Given the description of an element on the screen output the (x, y) to click on. 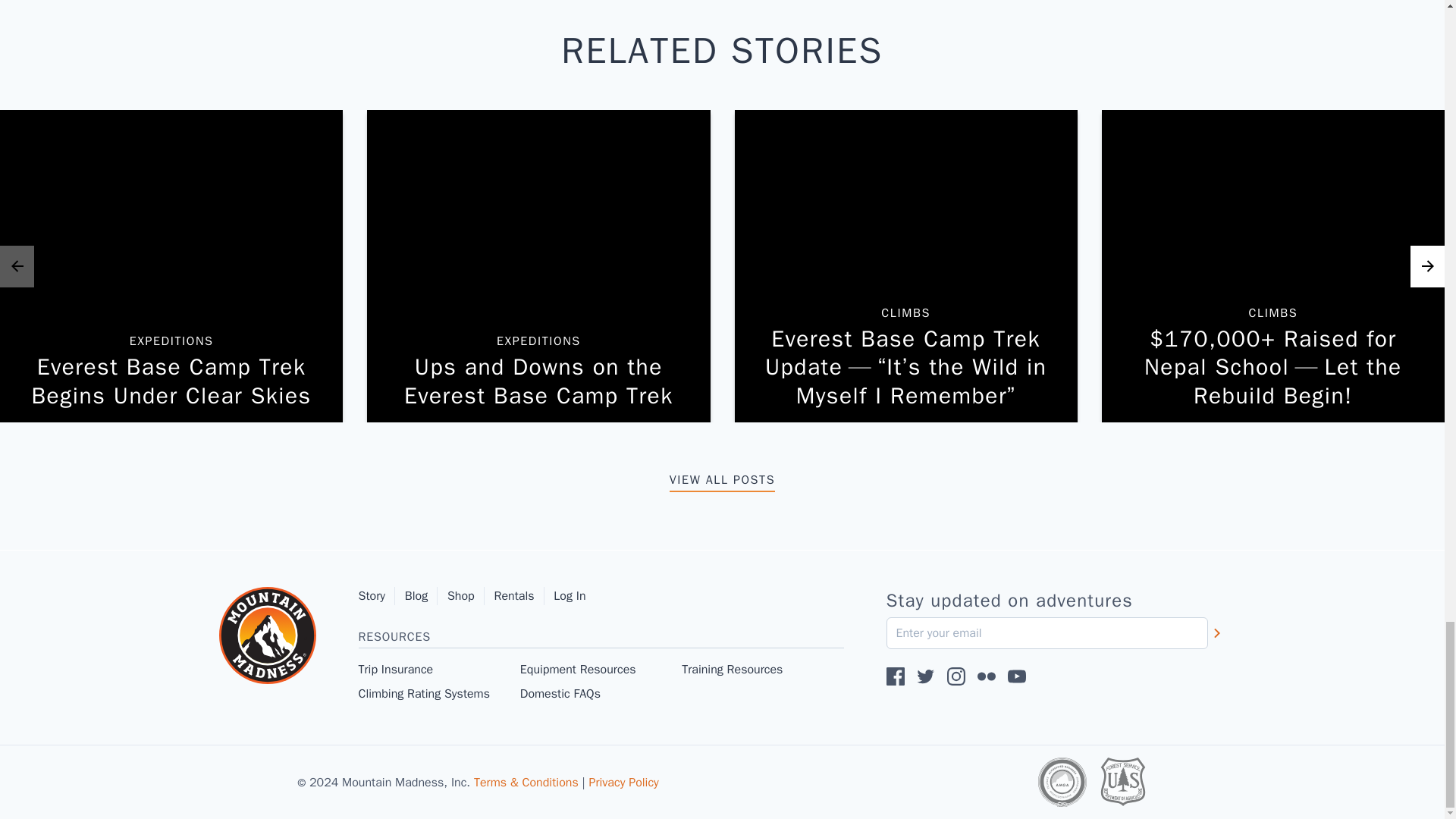
Training Resources (171, 266)
Subscribe on YouTube (762, 669)
Follow us on Twitter (1016, 676)
Trip Insurance (924, 676)
VIEW ALL POSTS (438, 669)
Blog (721, 479)
Like us on Facebook (421, 596)
Story (894, 676)
